Given the description of an element on the screen output the (x, y) to click on. 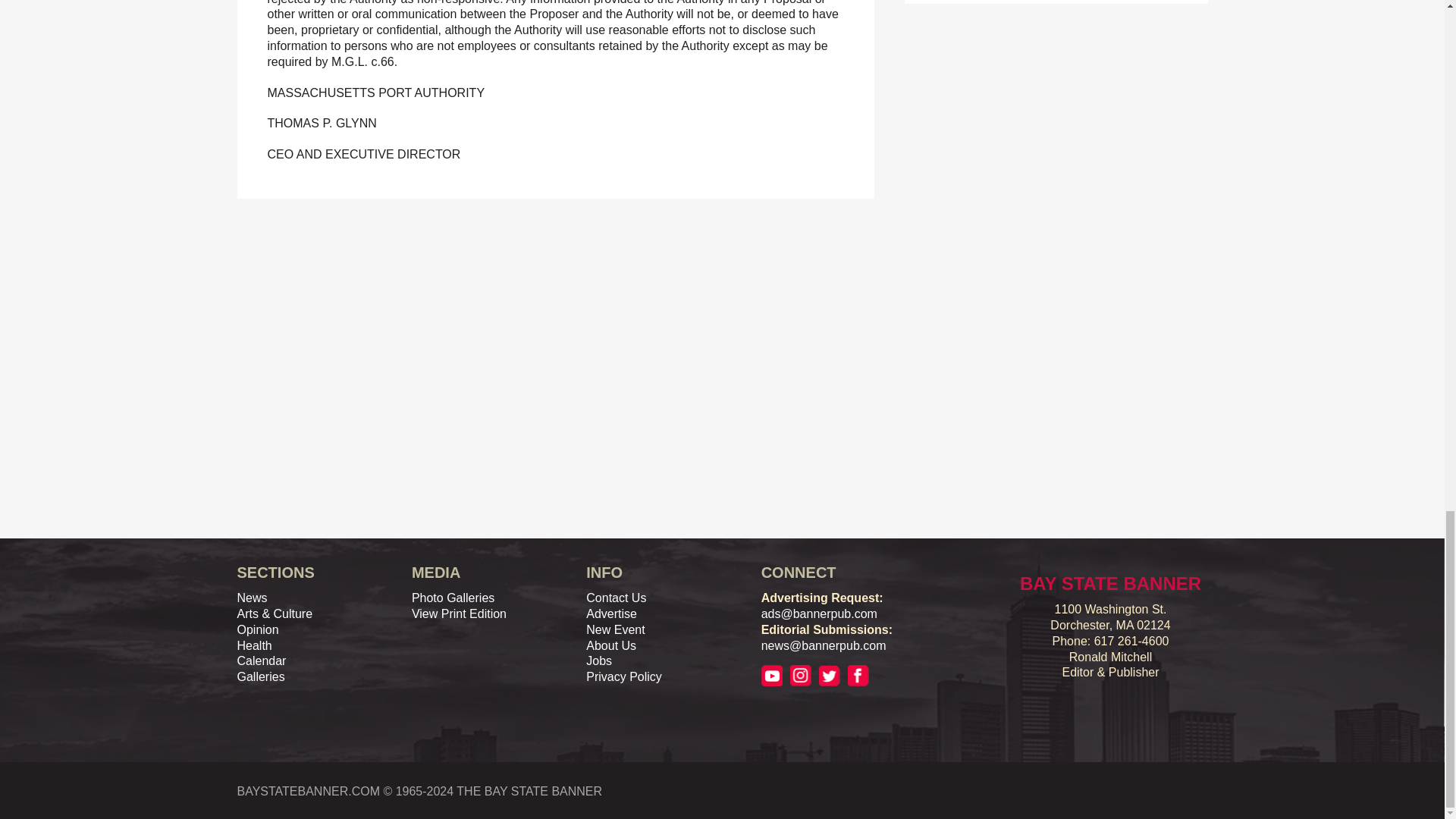
3rd party ad content (1017, 261)
3rd party ad content (275, 233)
